Given the description of an element on the screen output the (x, y) to click on. 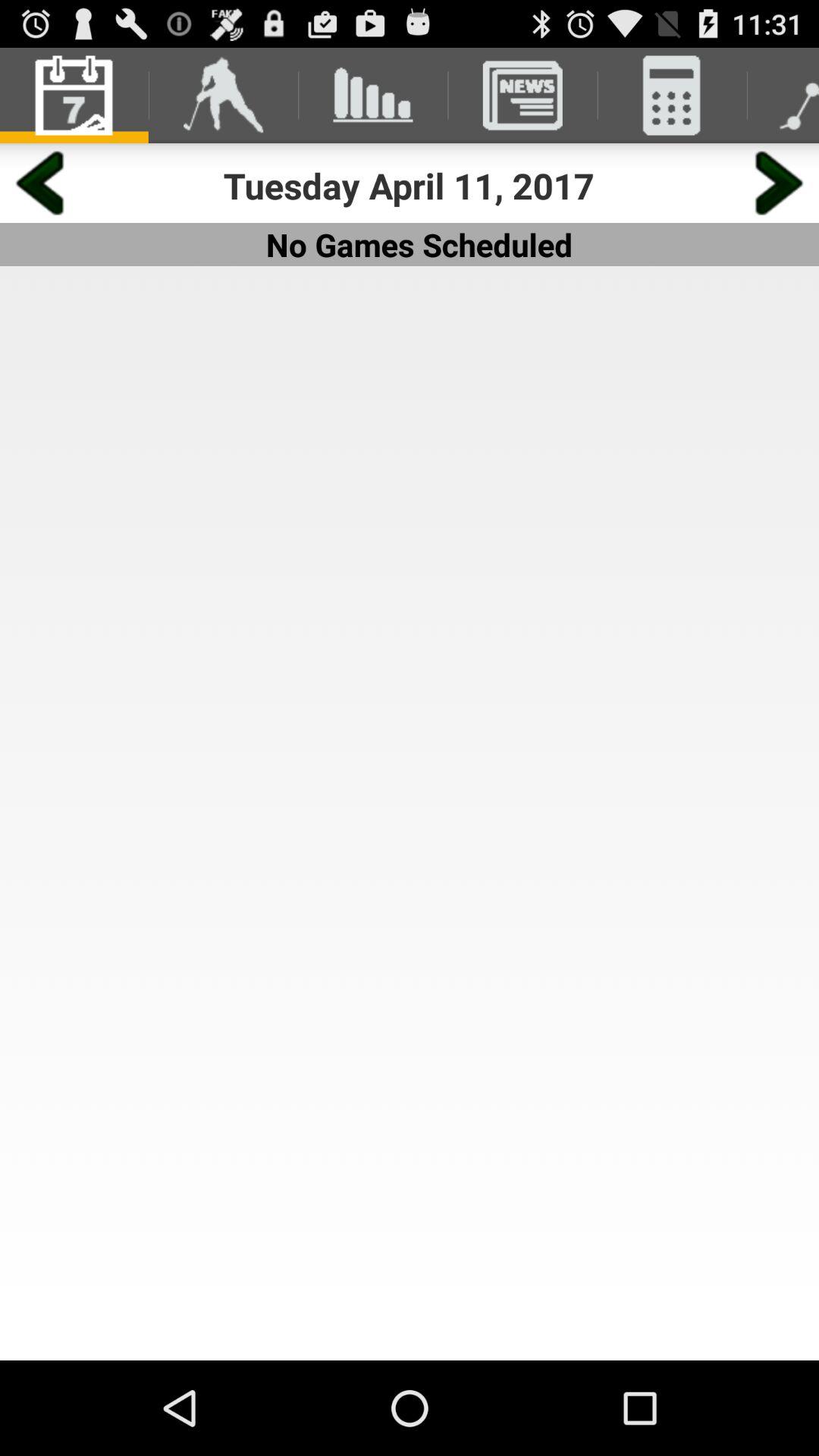
flip to the tuesday april 11 app (408, 185)
